Given the description of an element on the screen output the (x, y) to click on. 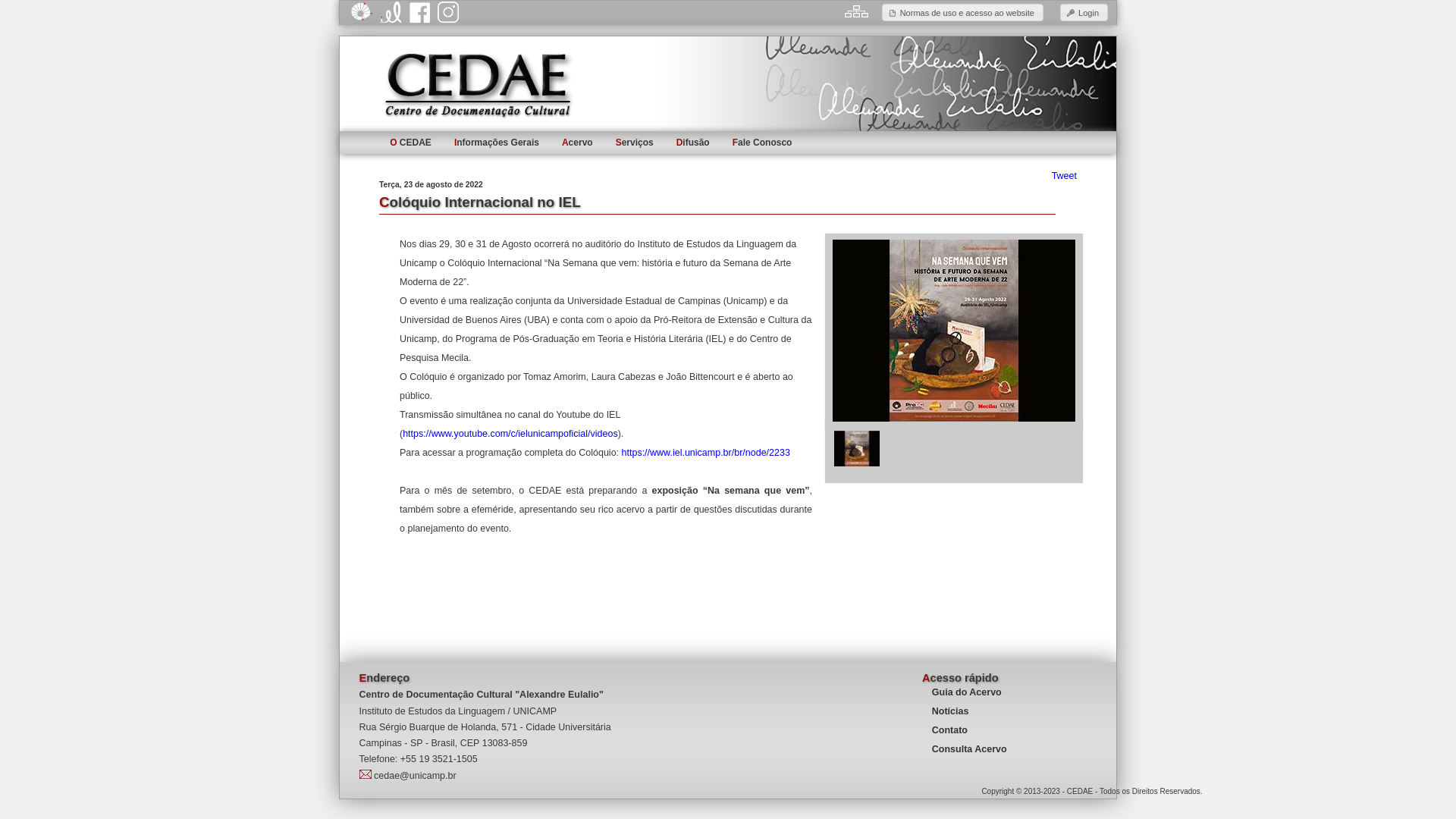
Tweet Element type: text (1063, 175)
Consulta Acervo Element type: text (969, 748)
Contato Element type: text (949, 729)
Mapa do Site Element type: hover (856, 10)
Envie-nos um Email Element type: hover (365, 773)
https://www.youtube.com/c/ielunicampoficial/videos Element type: text (509, 433)
Fale Conosco Element type: text (762, 142)
O CEDAE Element type: text (410, 142)
Login Element type: text (1083, 12)
Instagram do CEDAE Element type: hover (447, 12)
Instituto de Estudos da Linguagem Element type: hover (390, 12)
Acervo Element type: text (577, 142)
Facebook do CEDAE Element type: hover (418, 12)
Guia do Acervo Element type: text (966, 692)
Normas de uso e acesso ao website Element type: text (962, 12)
Unicamp Element type: hover (361, 11)
https://www.iel.unicamp.br/br/node/2233 Element type: text (705, 452)
